Given the description of an element on the screen output the (x, y) to click on. 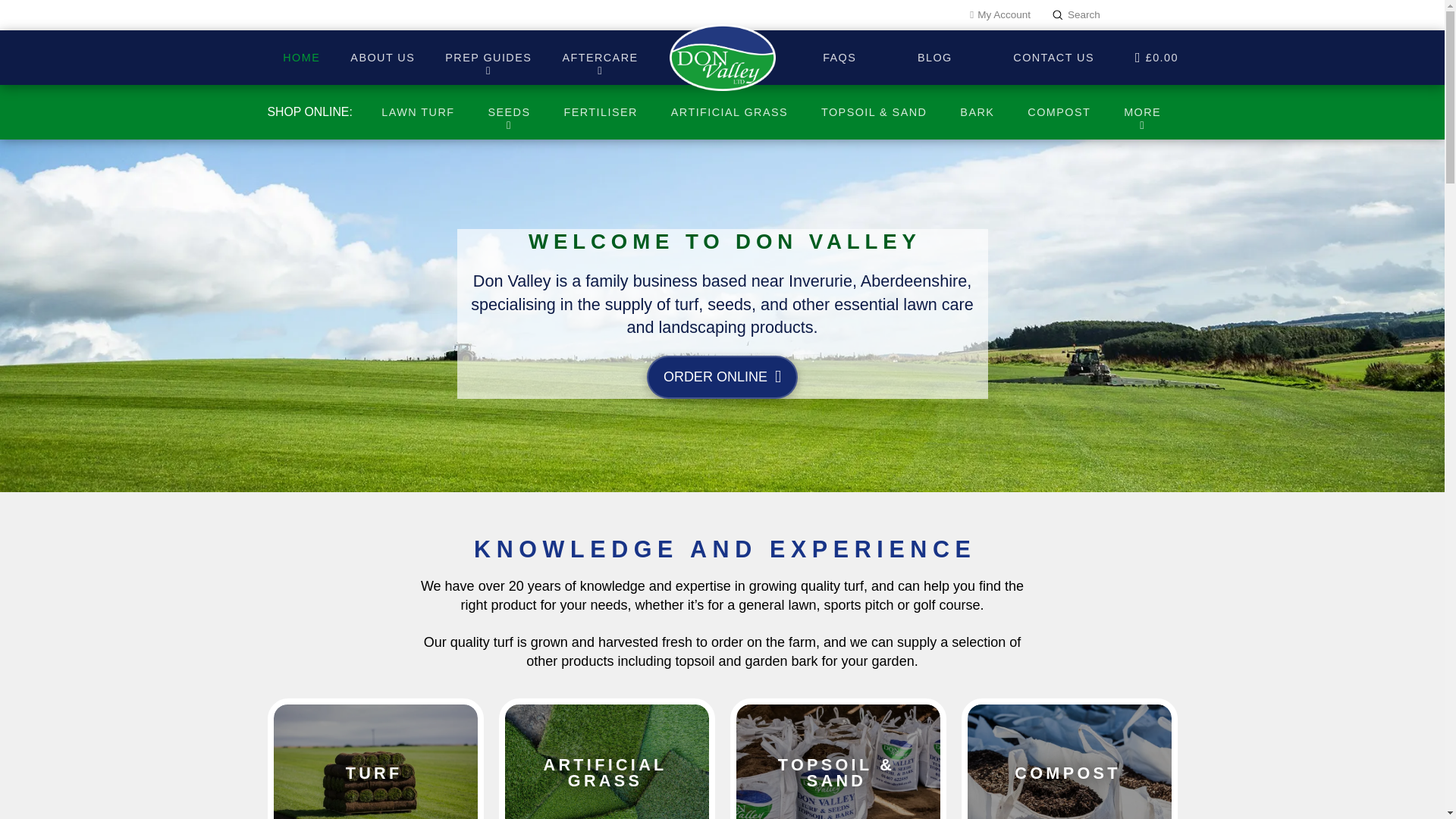
ABOUT US (381, 62)
My Account (999, 14)
BLOG (934, 62)
Submit (1057, 14)
FERTILISER (599, 105)
ORDER ONLINE (721, 376)
FAQS (1070, 761)
AFTERCARE (838, 62)
SEEDS (598, 62)
HOME (507, 112)
ARTIFICIAL GRASS (301, 62)
BARK (607, 761)
